Given the description of an element on the screen output the (x, y) to click on. 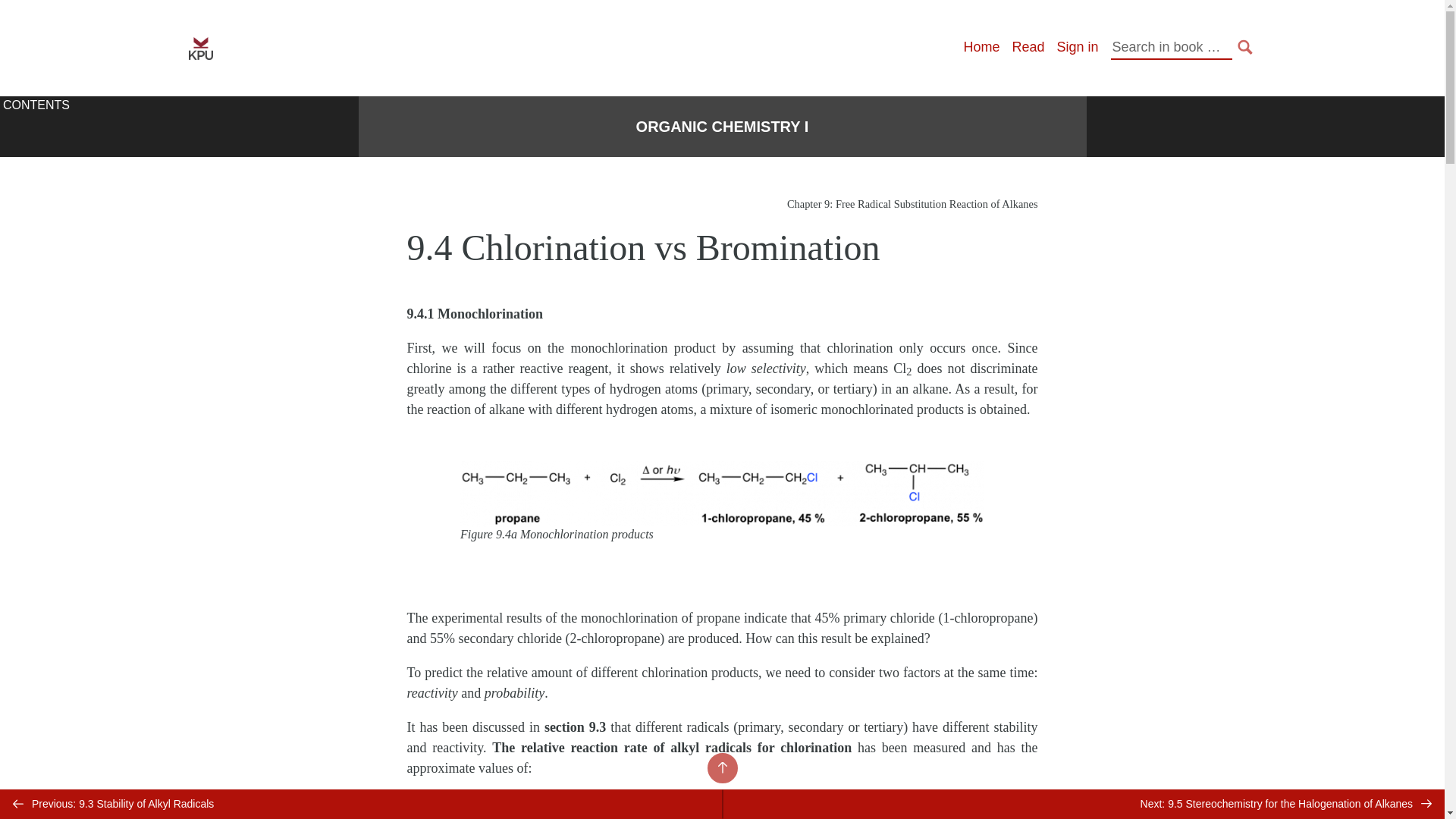
Previous: 9.3 Stability of Alkyl Radicals (361, 804)
Previous: 9.3 Stability of Alkyl Radicals (361, 804)
Sign in (1077, 46)
BACK TO TOP (721, 767)
Home (980, 46)
Read (1027, 46)
ORGANIC CHEMISTRY I (722, 126)
